Given the description of an element on the screen output the (x, y) to click on. 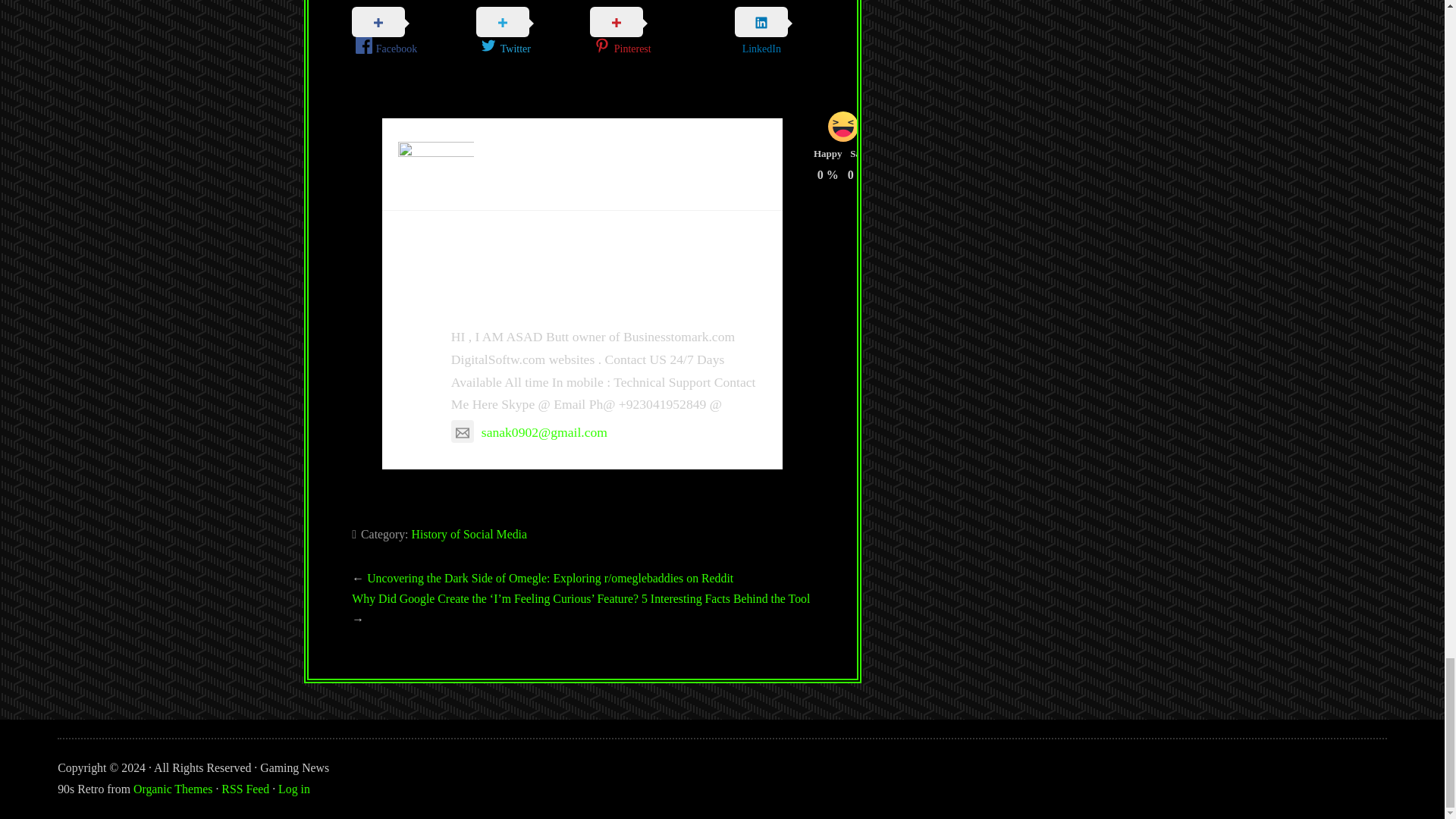
Pinterest (649, 36)
History of Social Media (468, 533)
asad butt (500, 299)
Facebook (414, 36)
LinkedIn (761, 35)
Twitter (532, 36)
